Given the description of an element on the screen output the (x, y) to click on. 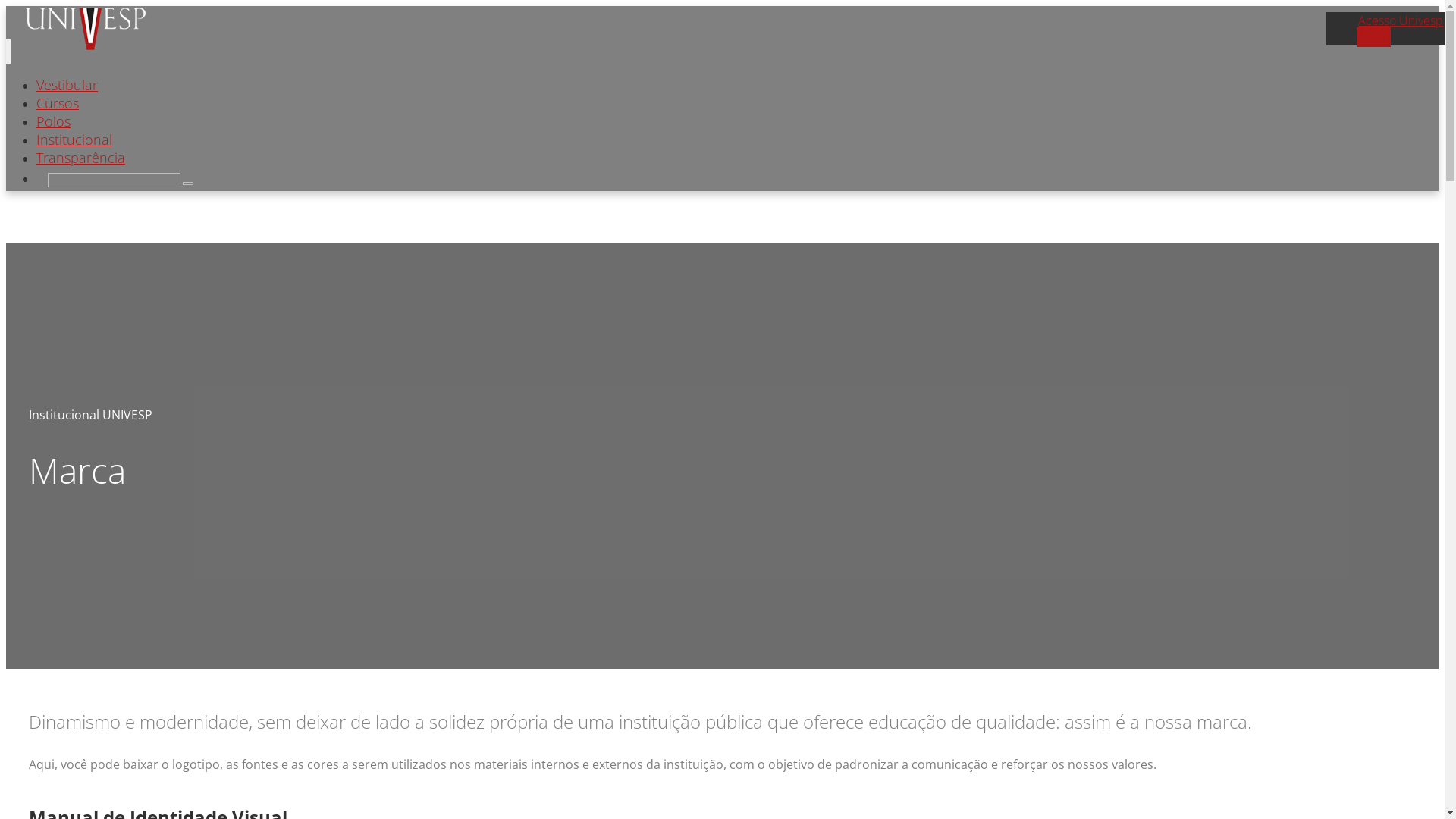
Cursos Element type: text (57, 103)
Vestibular Element type: text (66, 84)
Aluno Element type: text (1373, 37)
Search Element type: text (187, 183)
Institucional Element type: text (74, 139)
Acesso Univesp Element type: text (1400, 20)
Polos Element type: text (53, 121)
